Given the description of an element on the screen output the (x, y) to click on. 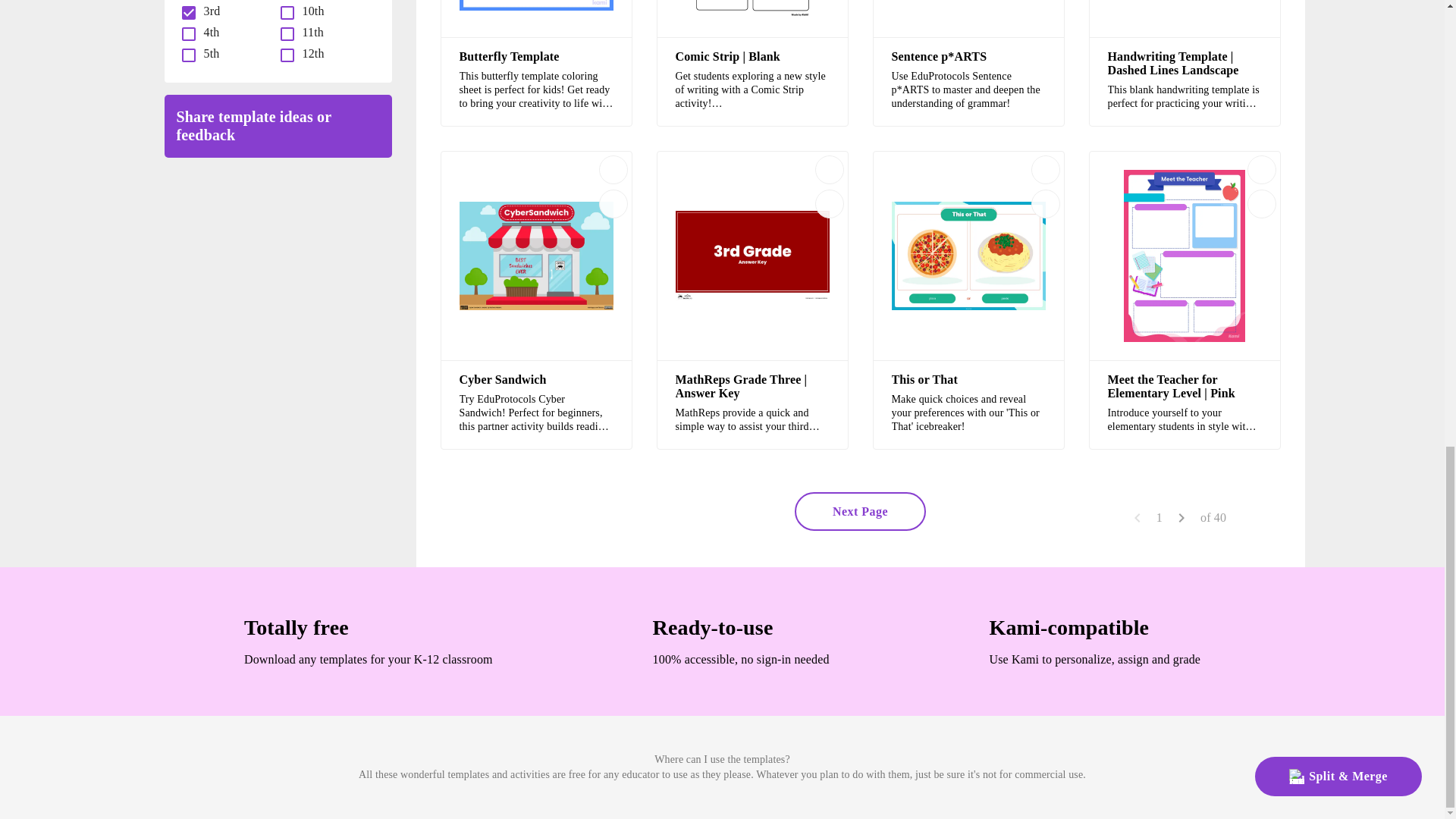
5th (207, 53)
11th (309, 32)
4th (207, 32)
10th (309, 11)
3rd (207, 11)
